Given the description of an element on the screen output the (x, y) to click on. 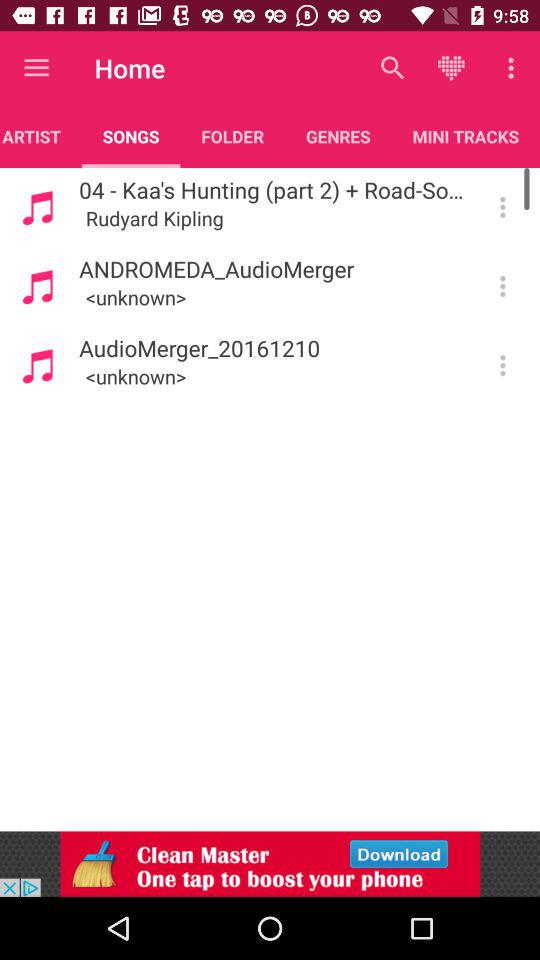
go to advertisement (270, 864)
